Given the description of an element on the screen output the (x, y) to click on. 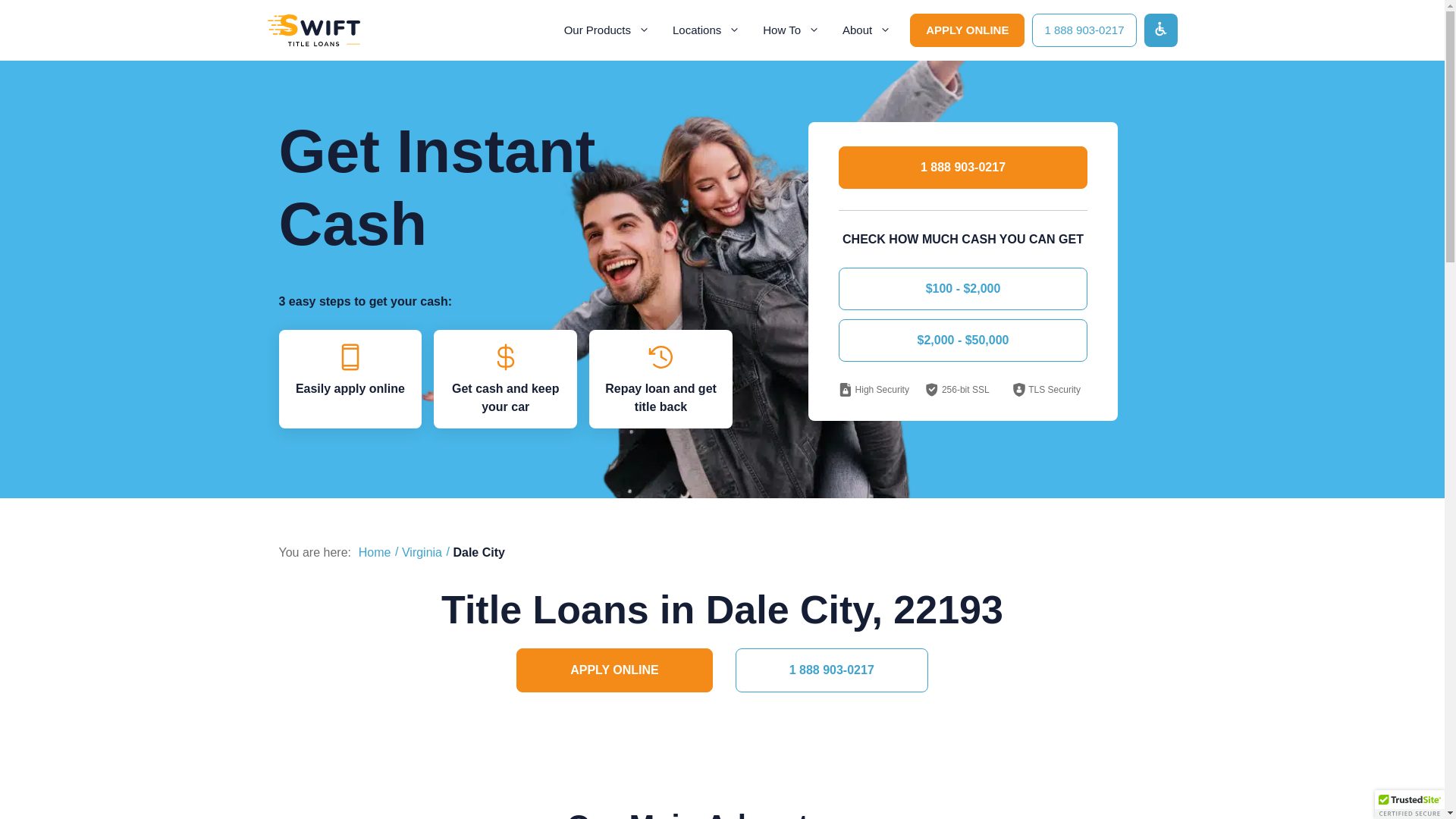
Swift Title Loans (312, 29)
